Given the description of an element on the screen output the (x, y) to click on. 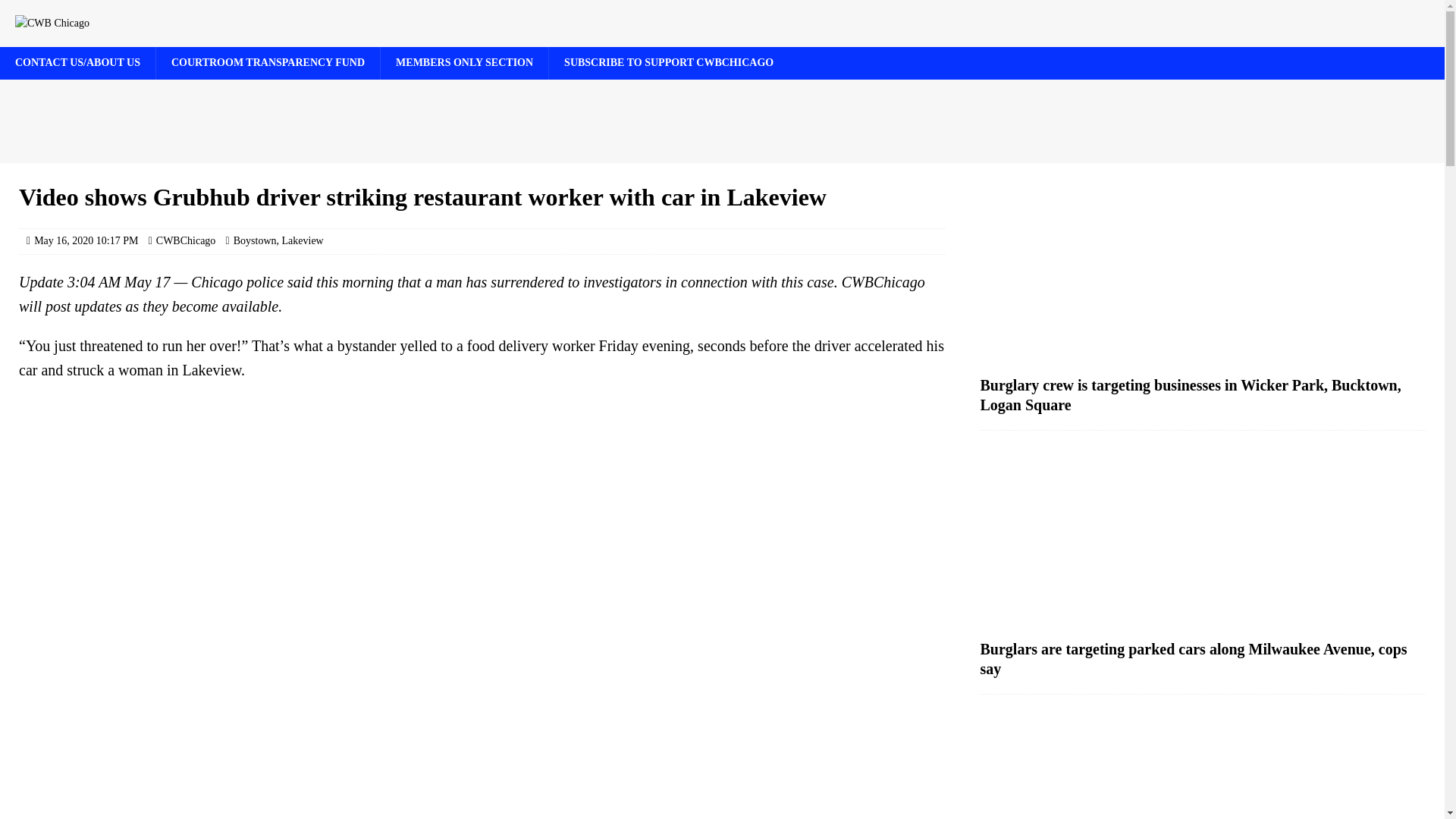
COURTROOM TRANSPARENCY FUND (267, 62)
MEMBERS ONLY SECTION (464, 62)
Boystown (254, 240)
CWBChicago (185, 240)
SUBSCRIBE TO SUPPORT CWBCHICAGO (668, 62)
Lakeview (302, 240)
May 16, 2020 10:17 PM (85, 240)
